Given the description of an element on the screen output the (x, y) to click on. 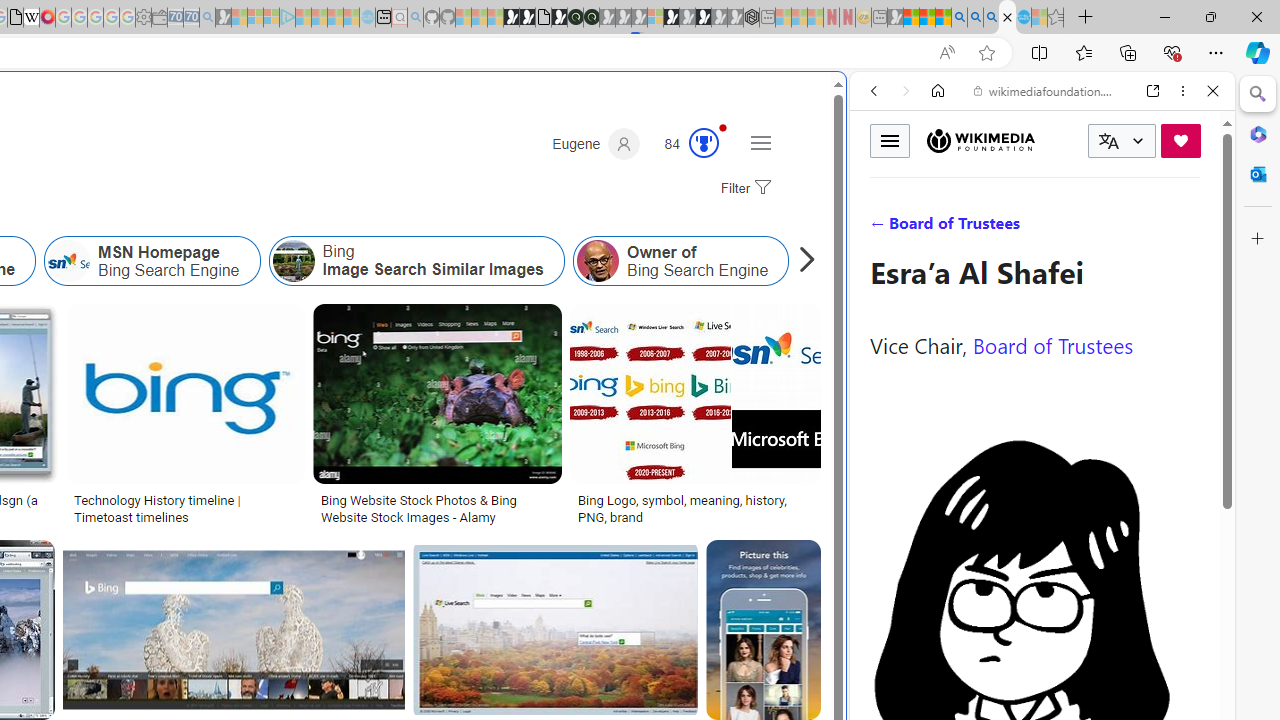
Owner of Bing Search Engine (597, 260)
Search Filter, Search Tools (1093, 228)
MSN Homepage Bing Search Engine (151, 260)
Owner of Bing Search Engine (680, 260)
